Given the description of an element on the screen output the (x, y) to click on. 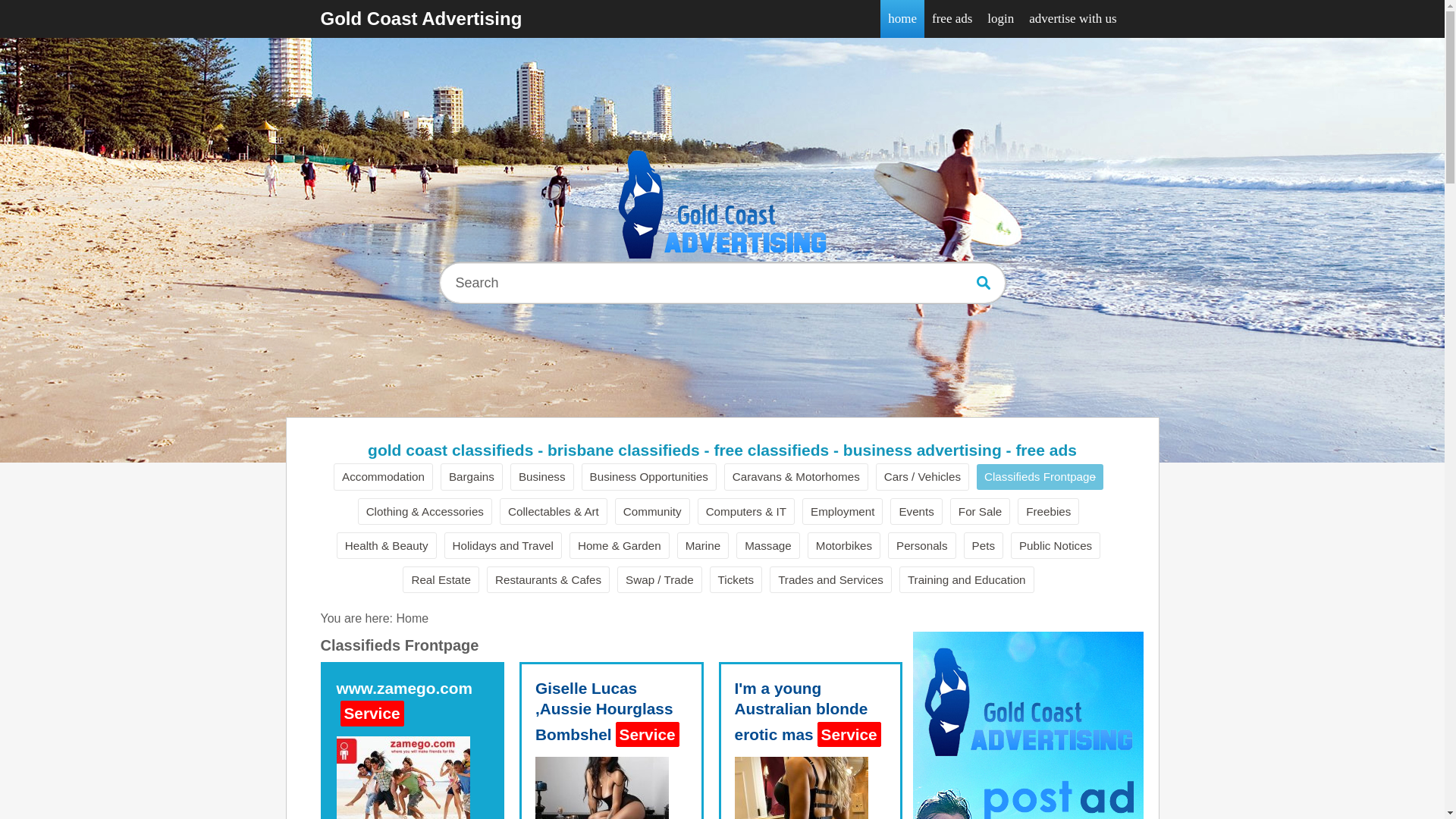
Events Element type: text (915, 510)
Tickets Element type: text (735, 579)
Pets Element type: text (983, 545)
Holidays and Travel Element type: text (502, 545)
Freebies Element type: text (1048, 510)
Accommodation Element type: text (383, 476)
Home & Garden Element type: text (619, 545)
home Element type: text (902, 18)
Business Element type: text (542, 476)
Computers & IT Element type: text (745, 510)
login Element type: text (1000, 18)
Swap / Trade Element type: text (659, 579)
Search Element type: text (983, 282)
Cars / Vehicles Element type: text (922, 476)
Classifieds Frontpage Element type: text (1039, 476)
Marine Element type: text (702, 545)
Training and Education Element type: text (966, 579)
For Sale Element type: text (980, 510)
Employment Element type: text (842, 510)
Massage Element type: text (768, 545)
free ads Element type: text (951, 18)
Clothing & Accessories Element type: text (424, 510)
Real Estate Element type: text (440, 579)
Motorbikes Element type: text (843, 545)
Caravans & Motorhomes Element type: text (796, 476)
Business Opportunities Element type: text (648, 476)
Giselle Lucas ,Aussie Hourglass Bombshel Element type: text (603, 710)
Collectables & Art Element type: text (553, 510)
www.zamego.com Element type: text (404, 687)
advertise with us Element type: text (1072, 18)
Health & Beauty Element type: text (386, 545)
Community Element type: text (652, 510)
Gold Coast Advertising Element type: text (420, 18)
Trades and Services Element type: text (830, 579)
Bargains Element type: text (471, 476)
Restaurants & Cafes Element type: text (547, 579)
I'm a young Australian blonde erotic mas Element type: text (801, 710)
Personals Element type: text (922, 545)
Public Notices Element type: text (1055, 545)
